Given the description of an element on the screen output the (x, y) to click on. 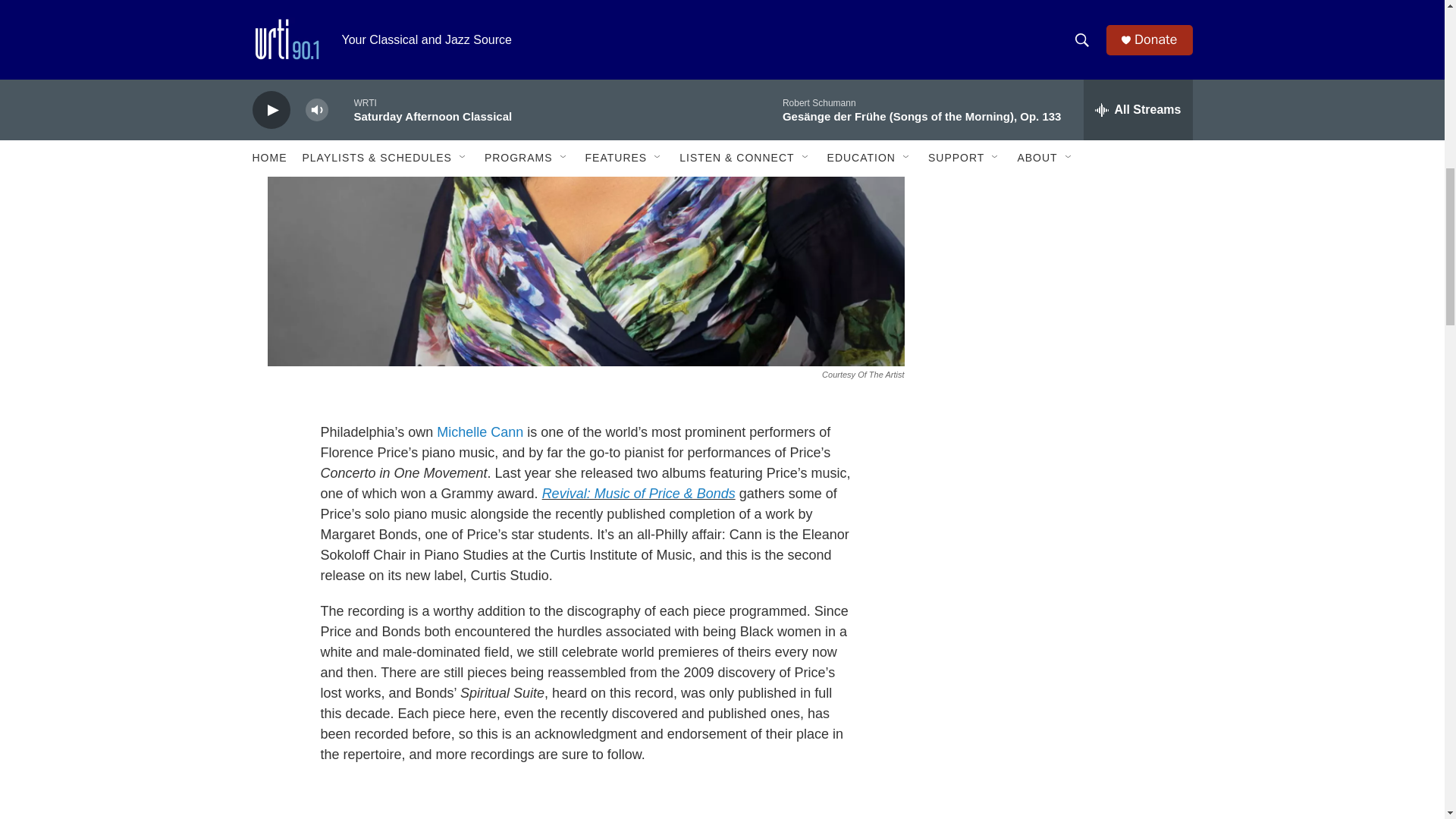
3rd party ad content (1062, 585)
3rd party ad content (1062, 175)
Price: Piano Sonata in E Minor (585, 811)
3rd party ad content (1062, 380)
